Given the description of an element on the screen output the (x, y) to click on. 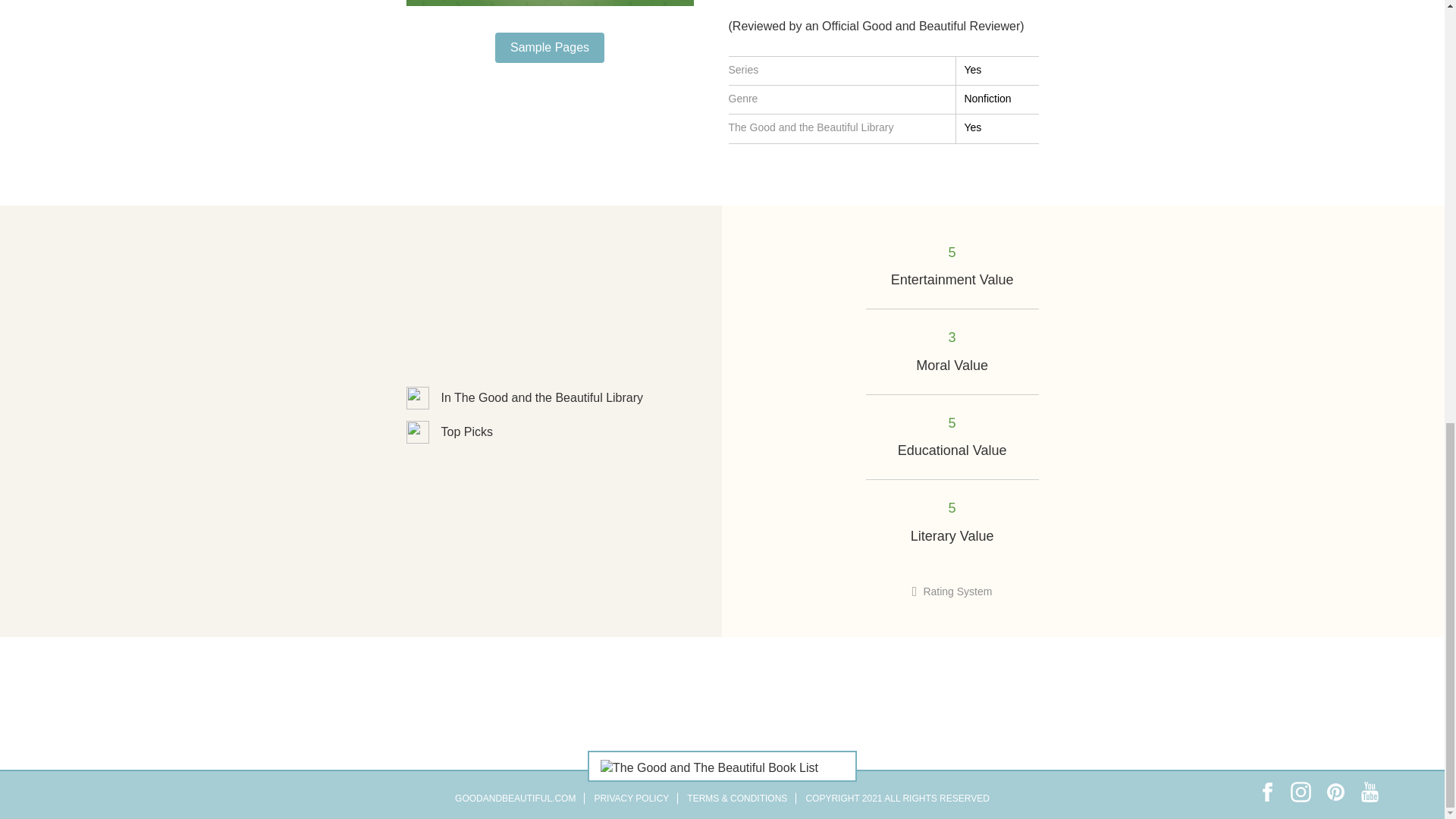
GOODANDBEAUTIFUL.COM (514, 798)
instagram (1300, 792)
youtube (1369, 792)
pinterest (1334, 792)
PRIVACY POLICY (631, 798)
facebook (1266, 791)
Sample Pages (549, 47)
